Given the description of an element on the screen output the (x, y) to click on. 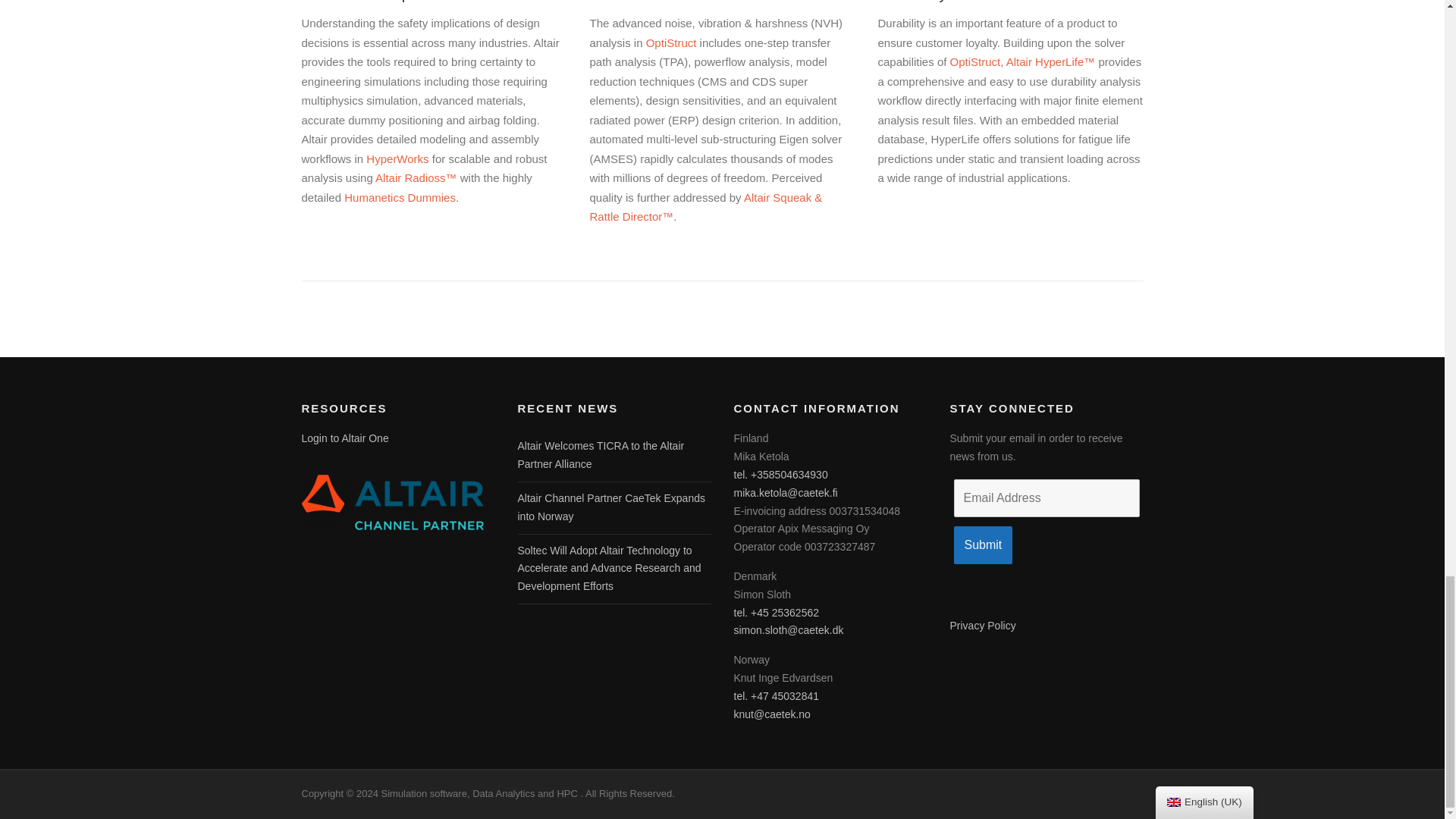
Submit (983, 545)
HyperWorks (397, 158)
OptiStruct (671, 42)
Humanetics Dummies (399, 196)
OptiStruct (975, 61)
